Given the description of an element on the screen output the (x, y) to click on. 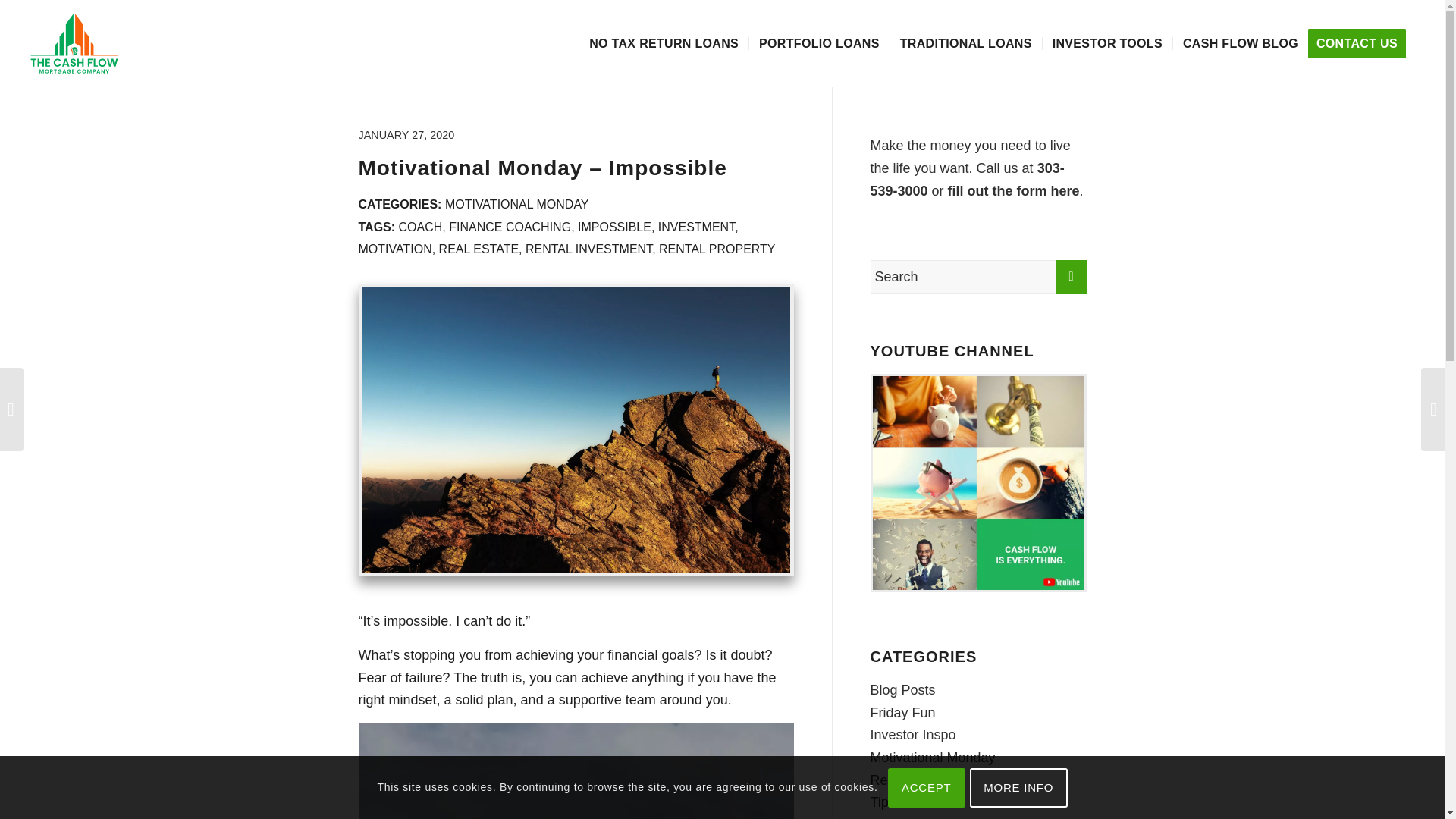
NO TAX RETURN LOANS (663, 43)
RENTAL PROPERTY (717, 248)
REAL ESTATE (479, 248)
IMPOSSIBLE (614, 226)
COACH (420, 226)
INVESTMENT (696, 226)
MOTIVATIONAL MONDAY (517, 204)
The Cash Flow Mortgage Company (74, 43)
FINANCE COACHING (509, 226)
CONTACT US (1361, 43)
CASH FLOW BLOG (1239, 43)
PORTFOLIO LOANS (818, 43)
RENTAL INVESTMENT (588, 248)
TRADITIONAL LOANS (965, 43)
INVESTOR TOOLS (1107, 43)
